Given the description of an element on the screen output the (x, y) to click on. 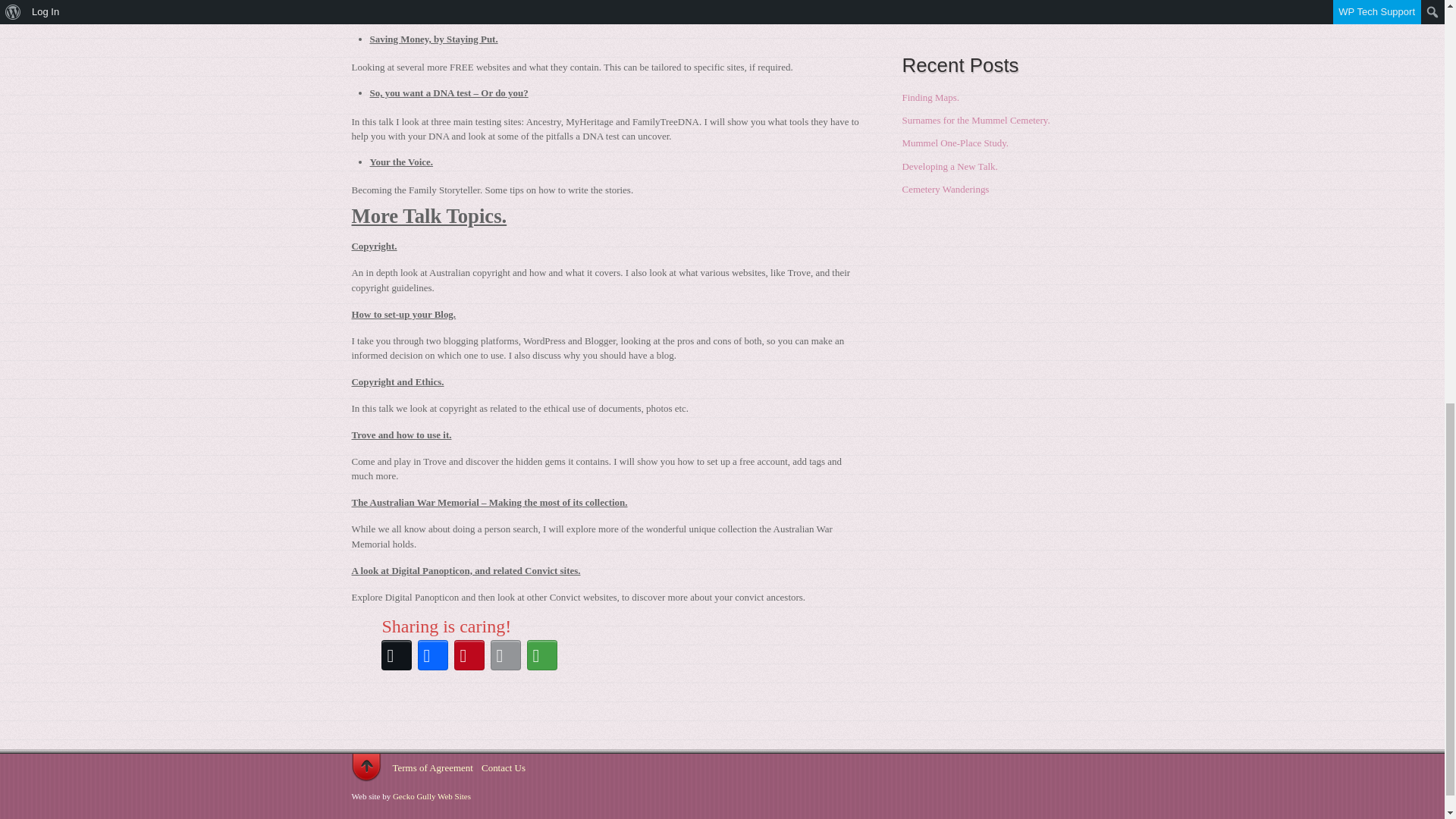
Gecko Gully Web Sites (431, 795)
Email This (504, 655)
Surnames for the Mummel Cemetery. (975, 120)
More Options (540, 655)
Terms of Agreement (433, 767)
Finding Maps. (930, 97)
Contact Us (503, 767)
Mummel One-Place Study. (955, 142)
Tips (911, 16)
Developing a New Talk. (949, 165)
Pinterest (467, 655)
Facebook (431, 655)
Cemetery Wanderings (946, 188)
